Given the description of an element on the screen output the (x, y) to click on. 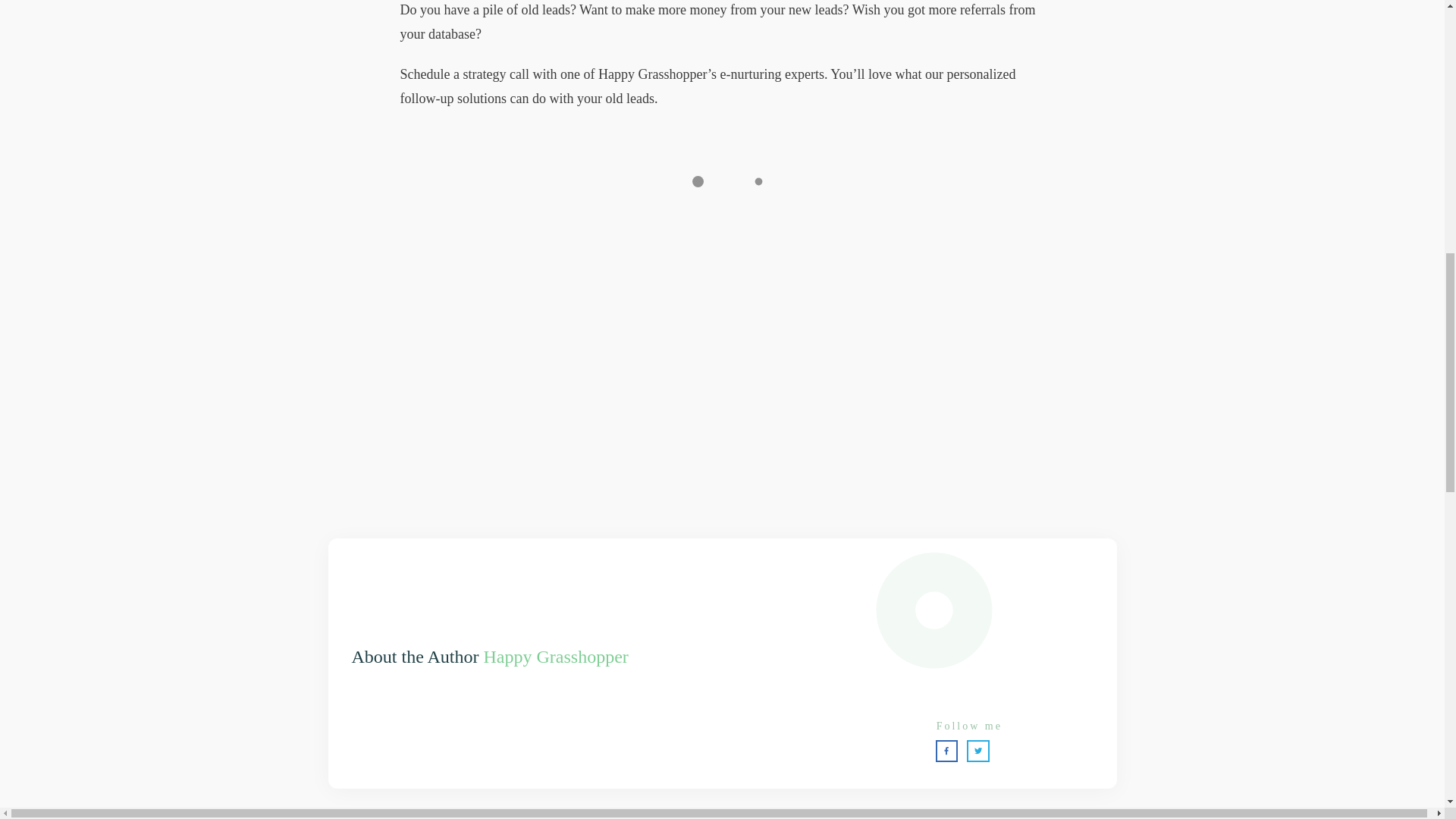
Happy Grasshopper (555, 656)
Happy Grasshopper (555, 656)
Author Box 03 (1009, 634)
